Given the description of an element on the screen output the (x, y) to click on. 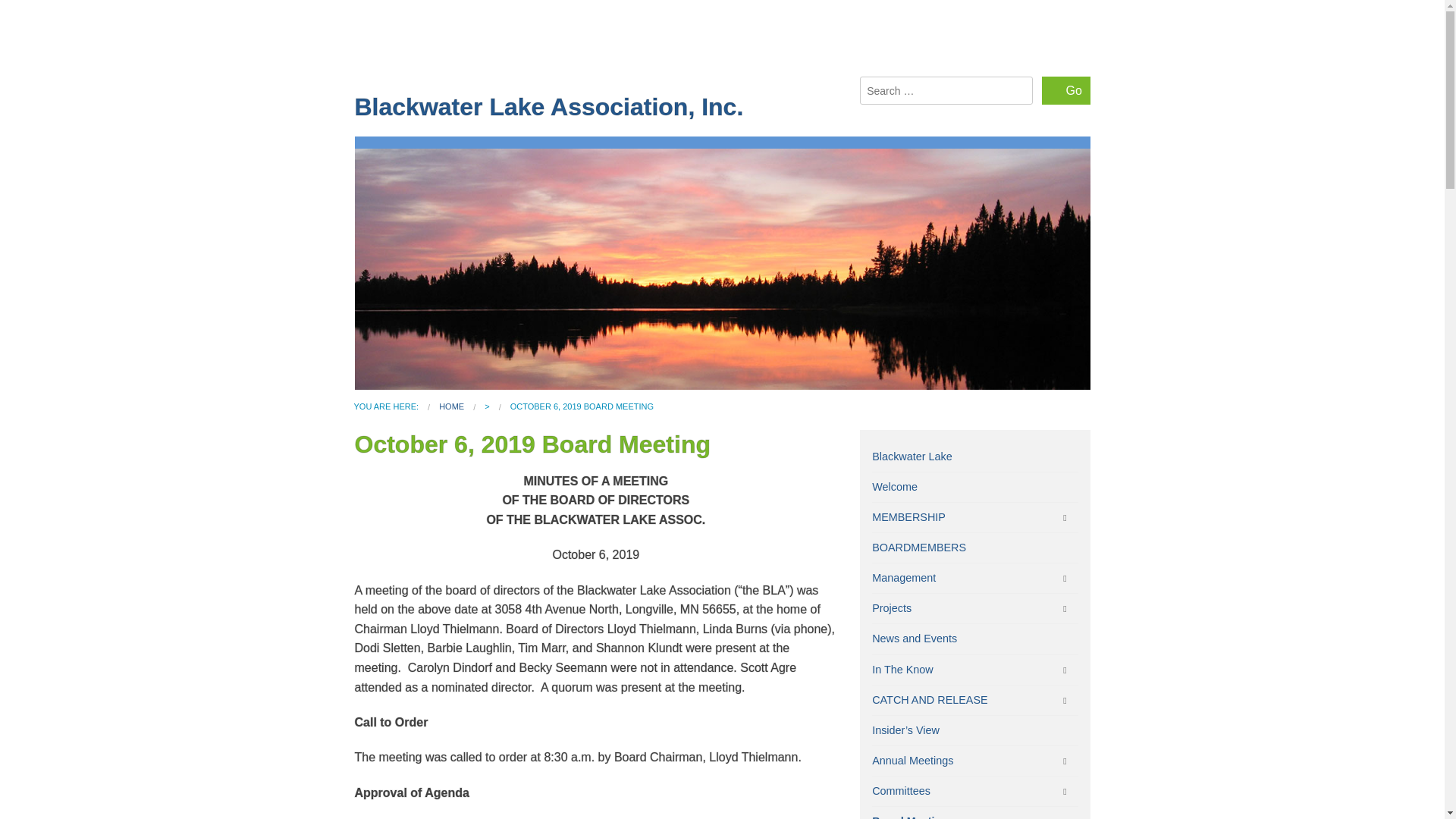
HOME (451, 406)
Annual Meetings (974, 760)
Management (974, 577)
Blackwater Lake Association, Inc. (549, 106)
Go (1066, 90)
Go (1066, 90)
News and Events (974, 638)
Projects (974, 608)
Go (1066, 90)
Blackwater Lake Association, Inc. (451, 406)
MEMBERSHIP (974, 517)
Blackwater Lake (974, 456)
In The Know (974, 669)
CATCH AND RELEASE (974, 699)
Blackwater Lake Association, Inc. (549, 106)
